Given the description of an element on the screen output the (x, y) to click on. 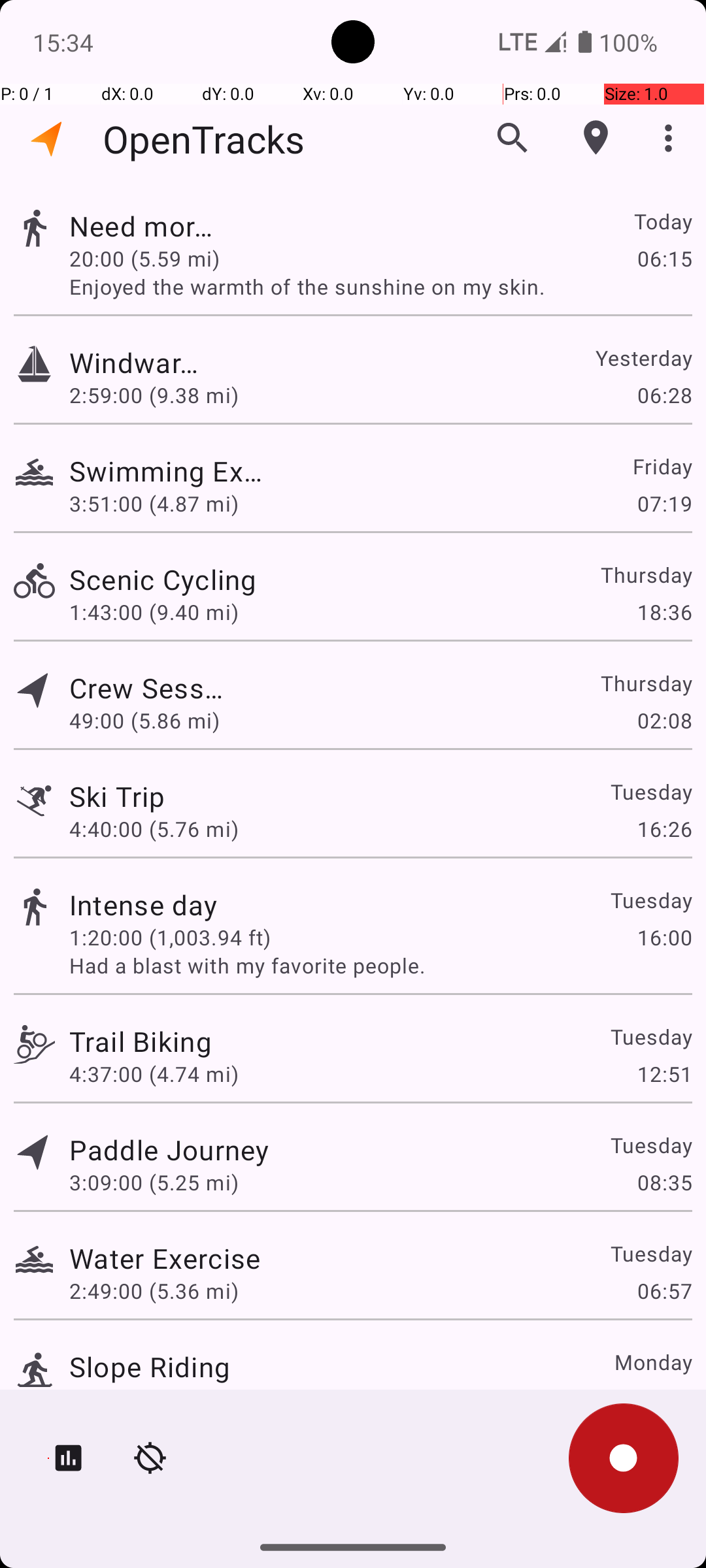
Need more strength and conditioning Element type: android.widget.TextView (143, 225)
20:00 (5.59 mi) Element type: android.widget.TextView (169, 258)
06:15 Element type: android.widget.TextView (664, 258)
Enjoyed the warmth of the sunshine on my skin. Element type: android.widget.TextView (380, 286)
Windward Sailing Element type: android.widget.TextView (140, 361)
2:59:00 (9.38 mi) Element type: android.widget.TextView (153, 394)
06:28 Element type: android.widget.TextView (664, 394)
Swimming Excursion Element type: android.widget.TextView (168, 470)
3:51:00 (4.87 mi) Element type: android.widget.TextView (153, 503)
07:19 Element type: android.widget.TextView (664, 503)
1:43:00 (9.40 mi) Element type: android.widget.TextView (153, 611)
18:36 Element type: android.widget.TextView (664, 611)
Crew Session Element type: android.widget.TextView (149, 687)
49:00 (5.86 mi) Element type: android.widget.TextView (153, 720)
02:08 Element type: android.widget.TextView (664, 720)
Ski Trip Element type: android.widget.TextView (116, 795)
4:40:00 (5.76 mi) Element type: android.widget.TextView (153, 828)
16:26 Element type: android.widget.TextView (664, 828)
Intense day Element type: android.widget.TextView (143, 904)
1:20:00 (1,003.94 ft) Element type: android.widget.TextView (169, 937)
Had a blast with my favorite people. Element type: android.widget.TextView (380, 965)
Trail Biking Element type: android.widget.TextView (140, 1040)
4:37:00 (4.74 mi) Element type: android.widget.TextView (153, 1073)
12:51 Element type: android.widget.TextView (664, 1073)
Paddle Journey Element type: android.widget.TextView (168, 1149)
3:09:00 (5.25 mi) Element type: android.widget.TextView (153, 1182)
08:35 Element type: android.widget.TextView (664, 1182)
Water Exercise Element type: android.widget.TextView (164, 1257)
2:49:00 (5.36 mi) Element type: android.widget.TextView (153, 1290)
06:57 Element type: android.widget.TextView (664, 1290)
Slope Riding Element type: android.widget.TextView (149, 1366)
1:44:00 (9.94 mi) Element type: android.widget.TextView (153, 1399)
22:21 Element type: android.widget.TextView (664, 1399)
